Given the description of an element on the screen output the (x, y) to click on. 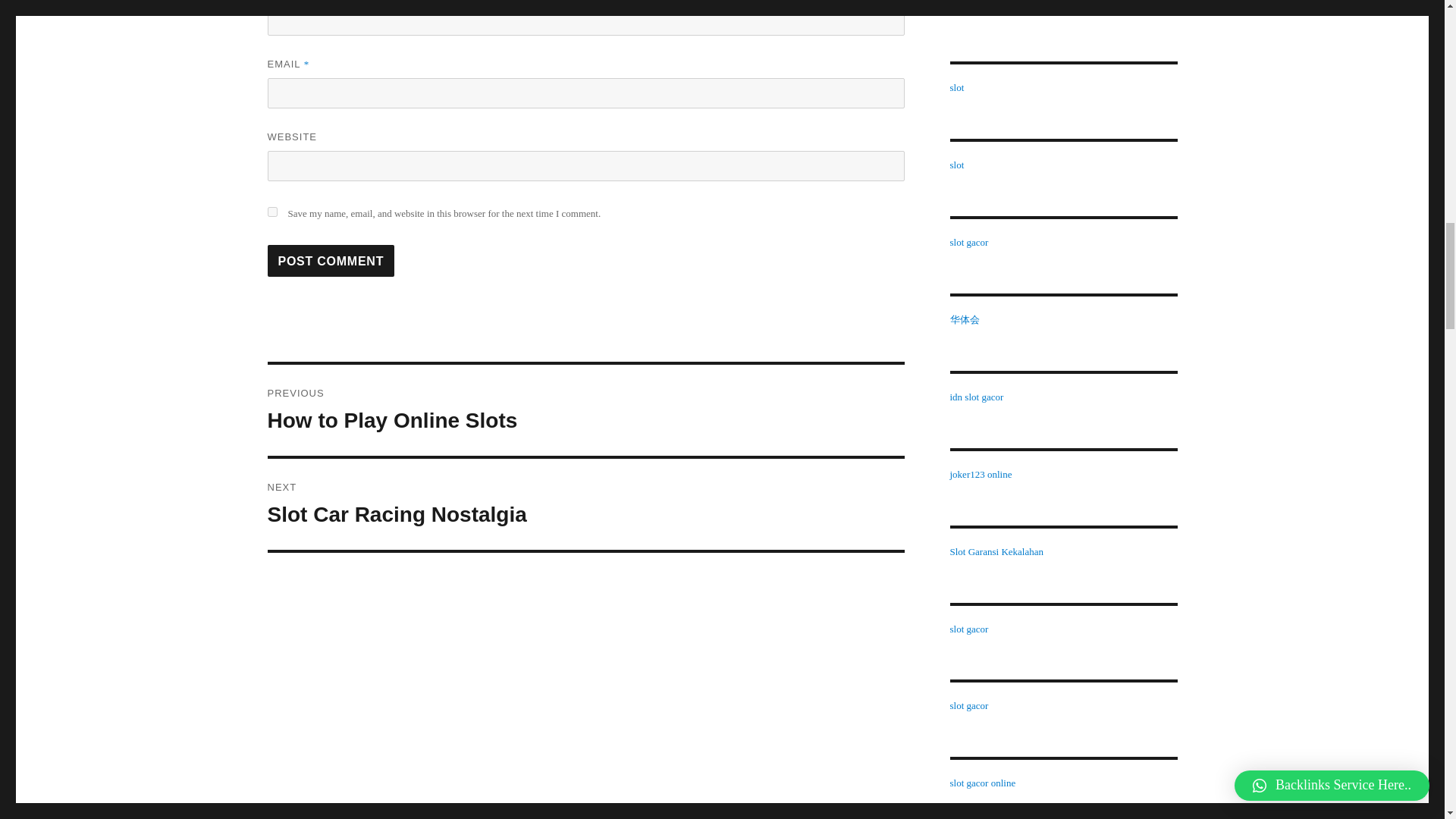
slot (956, 87)
yes (585, 409)
gemilang77 (271, 212)
Post Comment (972, 9)
Post Comment (585, 503)
